Given the description of an element on the screen output the (x, y) to click on. 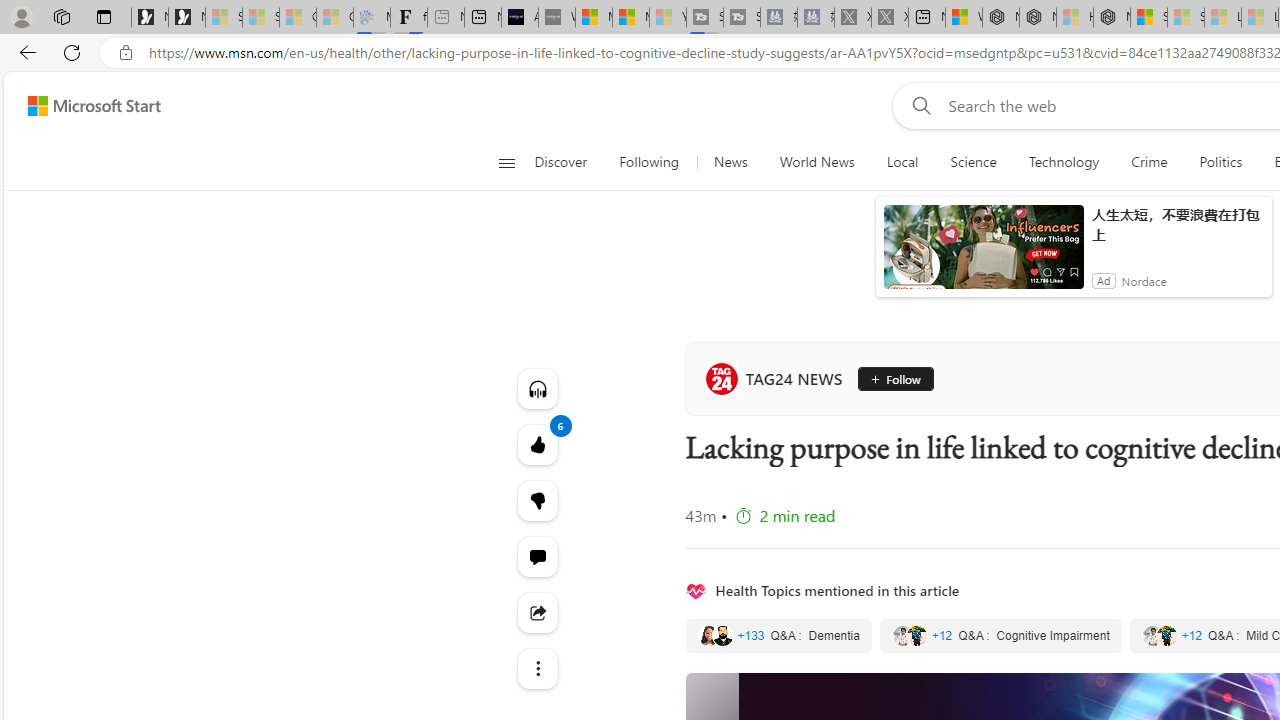
Nordace - Nordace Siena Is Not An Ordinary Backpack (1112, 17)
Technology (1064, 162)
Share this story (537, 612)
Local (902, 162)
